Given the description of an element on the screen output the (x, y) to click on. 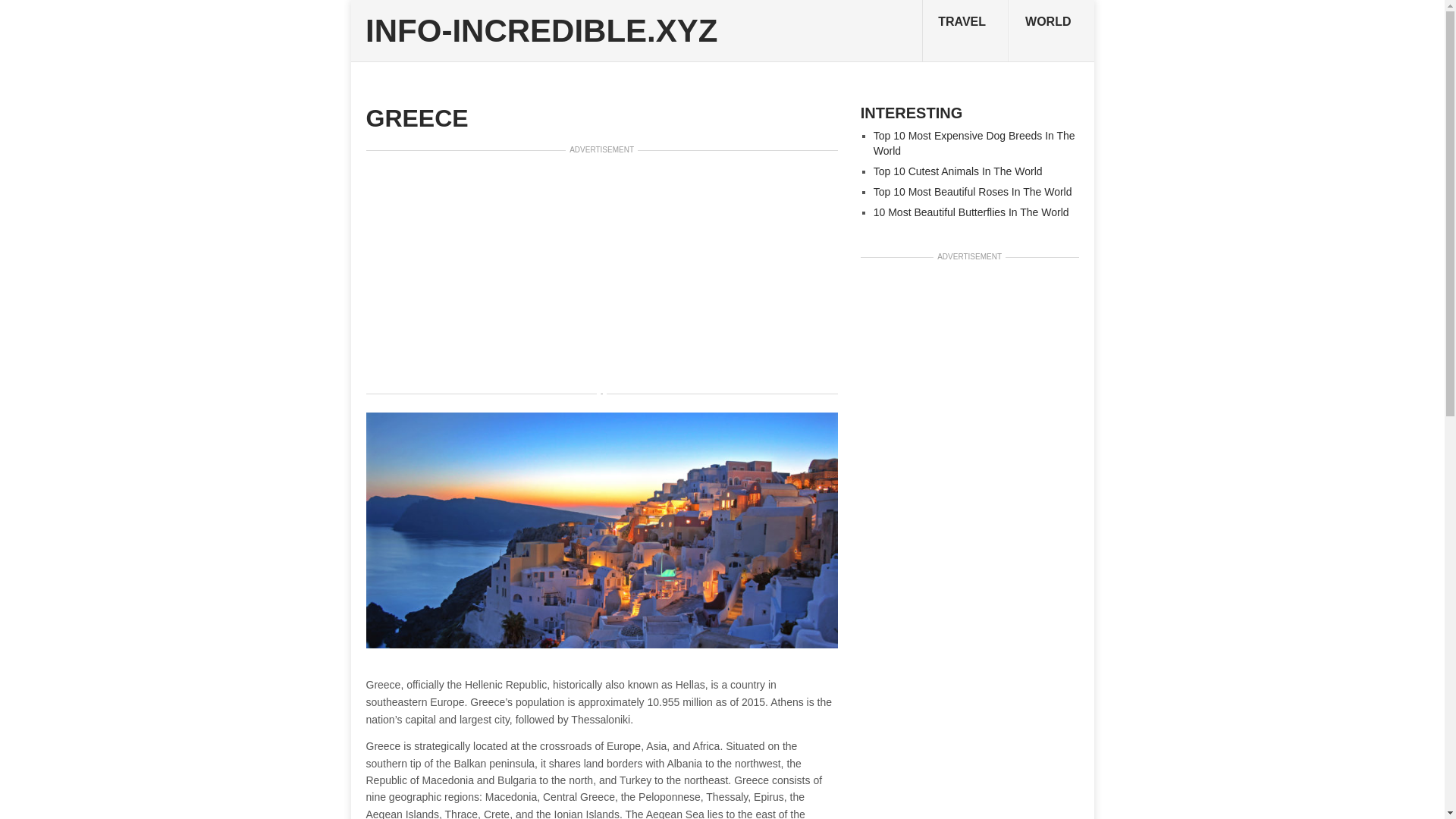
Top 10 Cutest Animals In The World (957, 171)
WORLD (1051, 31)
INFO-INCREDIBLE.XYZ (541, 30)
Advertisement (969, 498)
10 Most Beautiful Butterflies In The World (970, 212)
Top 10 Most Beautiful Roses In The World (972, 191)
TRAVEL (965, 31)
Advertisement (601, 271)
Top 10 Most Expensive Dog Breeds In The World (974, 143)
